Given the description of an element on the screen output the (x, y) to click on. 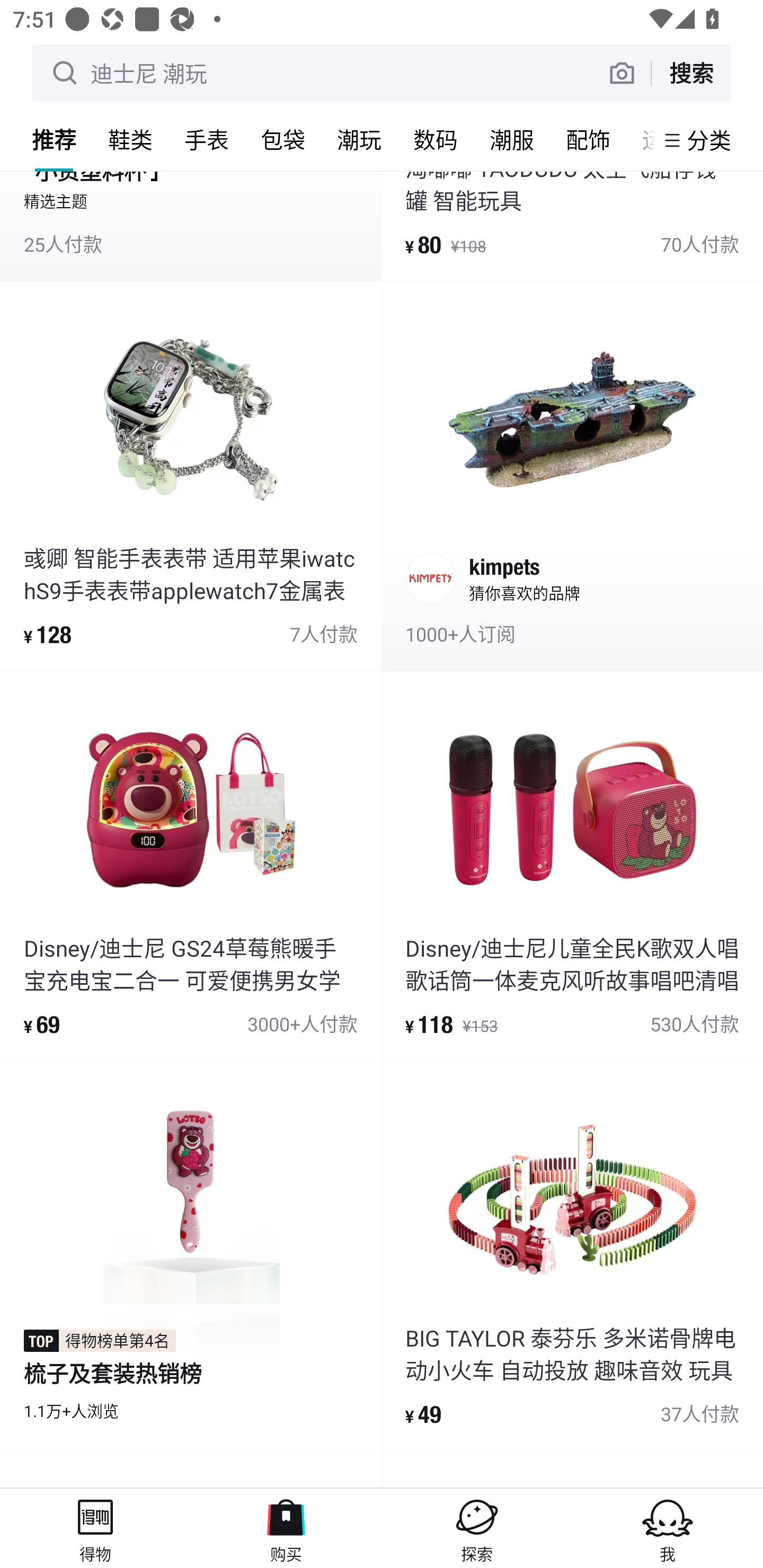
搜索 (690, 72)
推荐 (54, 139)
鞋类 (130, 139)
手表 (206, 139)
包袋 (282, 139)
潮玩 (359, 139)
数码 (435, 139)
潮服 (511, 139)
配饰 (588, 139)
分类 (708, 139)
kimpets 猜你喜欢的品牌 1000+人订阅 (572, 475)
得物榜单第4名 梳子及套装热销榜 1.1万+人浏览 (190, 1255)
得物 (95, 1528)
购买 (285, 1528)
探索 (476, 1528)
我 (667, 1528)
